Given the description of an element on the screen output the (x, y) to click on. 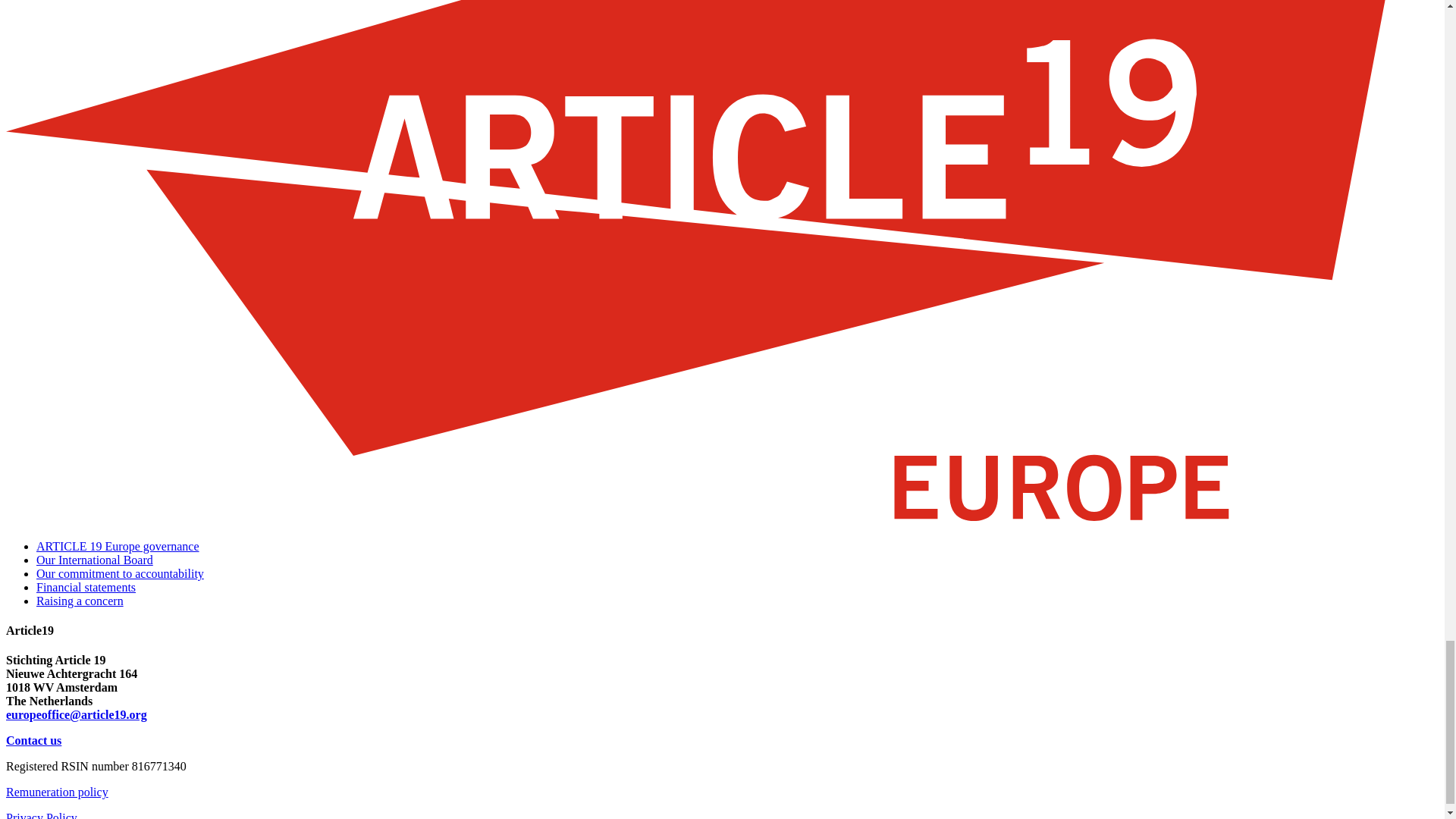
Our International Board (94, 559)
Contact us (33, 739)
Financial statements (85, 586)
Raising a concern (79, 600)
ARTICLE 19 Europe governance (117, 545)
Our commitment to accountability (119, 573)
